Given the description of an element on the screen output the (x, y) to click on. 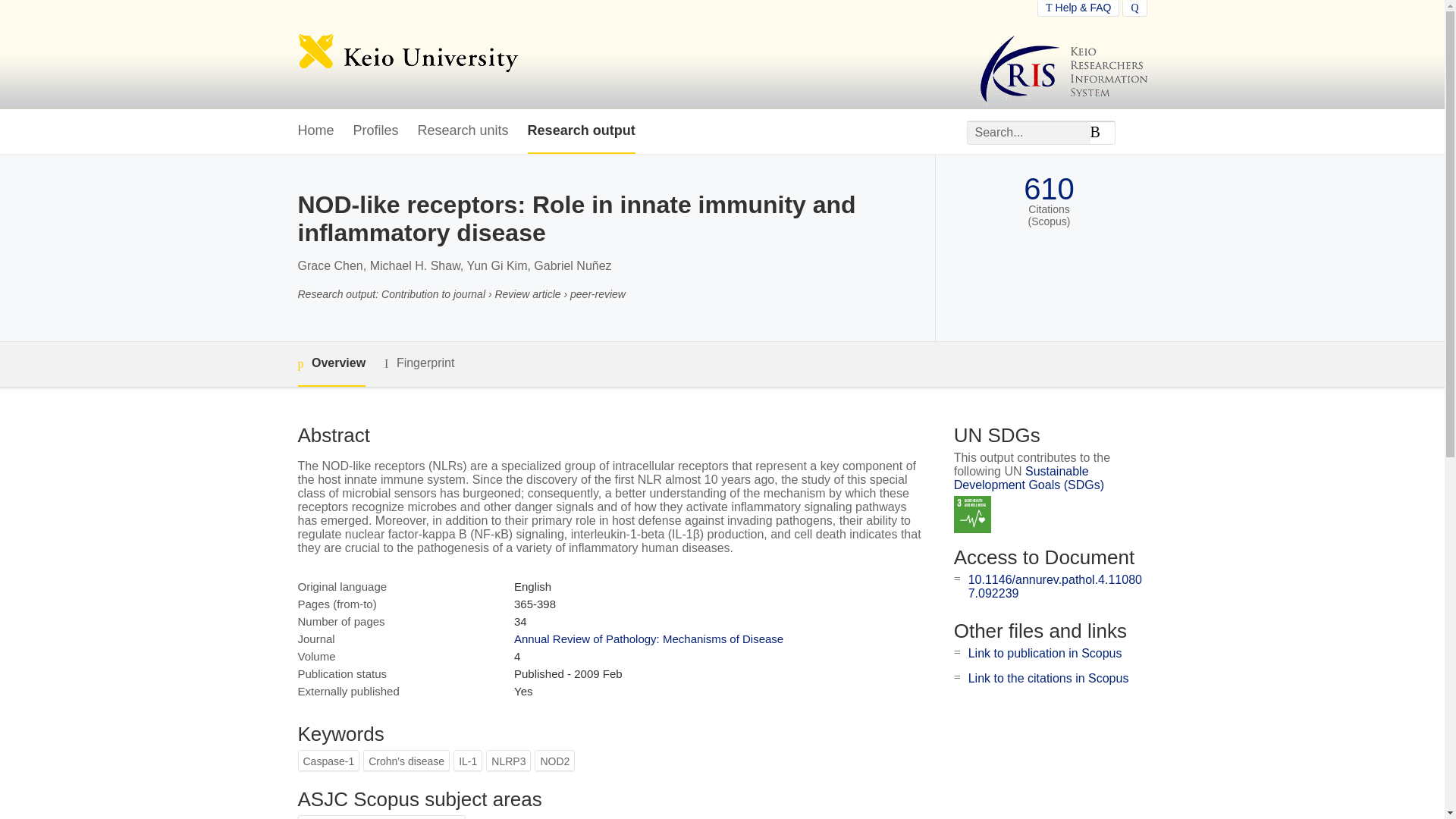
Research units (462, 130)
Overview (331, 364)
Annual Review of Pathology: Mechanisms of Disease (648, 638)
Profiles (375, 130)
SDG 3 - Good Health and Well-being (972, 514)
Research output (580, 130)
Fingerprint (419, 363)
Keio University Home (407, 54)
Link to publication in Scopus (1045, 653)
